Given the description of an element on the screen output the (x, y) to click on. 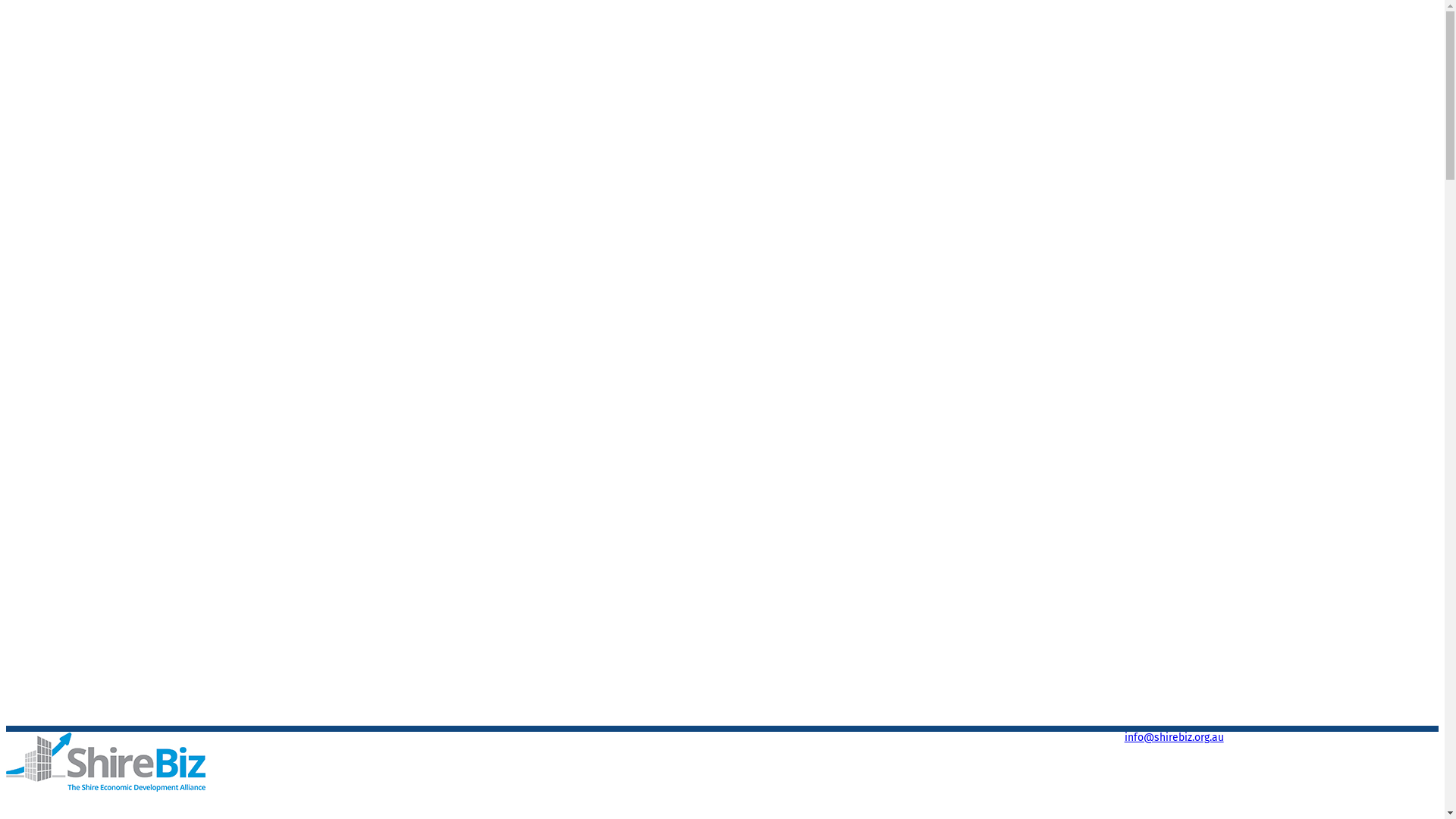
info@shirebiz.org.au Element type: text (1173, 737)
